Given the description of an element on the screen output the (x, y) to click on. 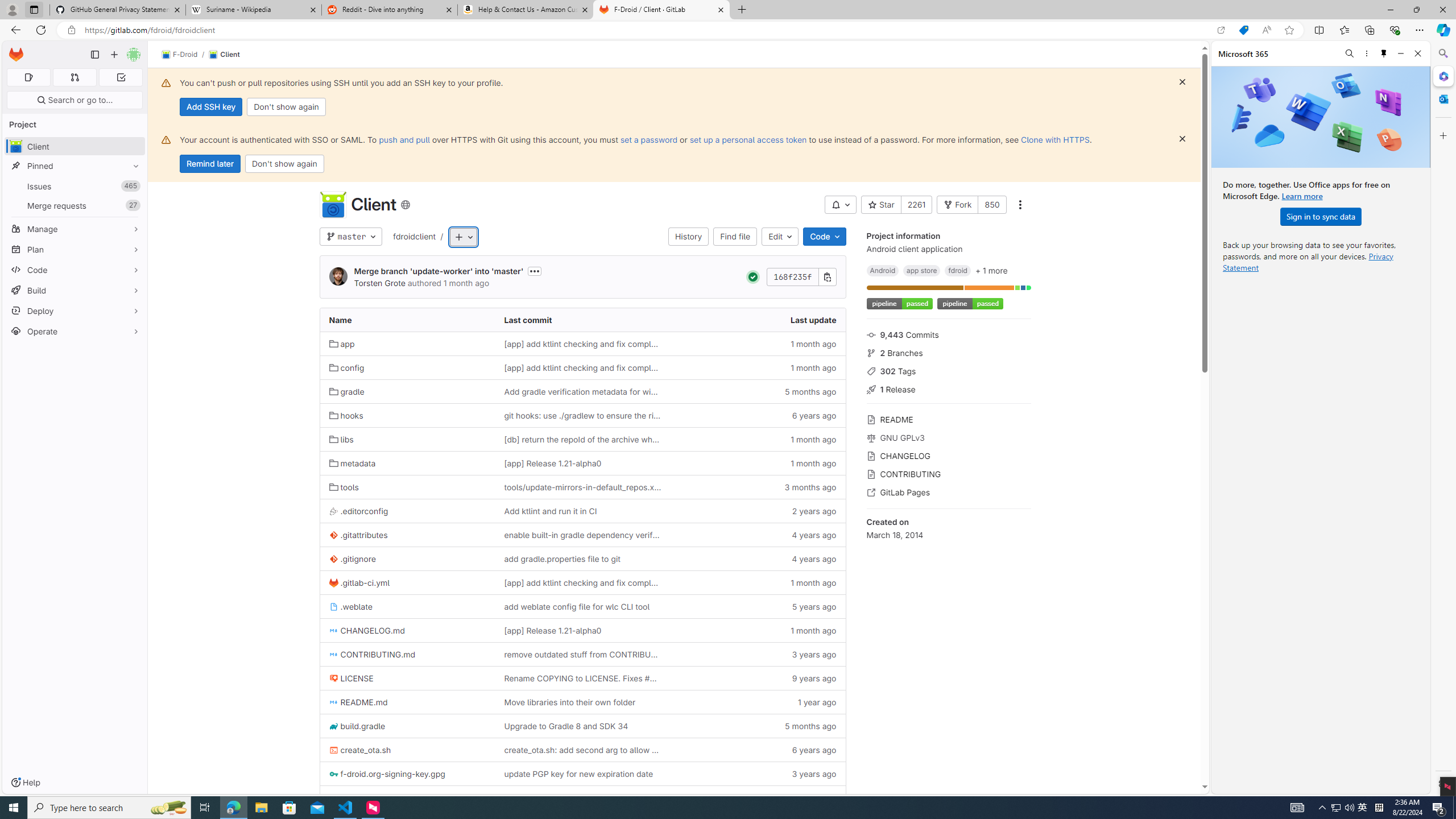
9,443 Commits (948, 333)
Add SSH key (211, 106)
More actions (1019, 204)
Merge requests 0 (74, 76)
Add gradle verification metadata for windows (582, 391)
remove outdated stuff from CONTRIBUTING.md (583, 654)
enable built-in gradle dependency verification (582, 535)
hooks (407, 414)
README.md (407, 701)
Code (824, 236)
tools (407, 487)
GNU GPLv3 (948, 437)
.gitattributes (407, 534)
